Given the description of an element on the screen output the (x, y) to click on. 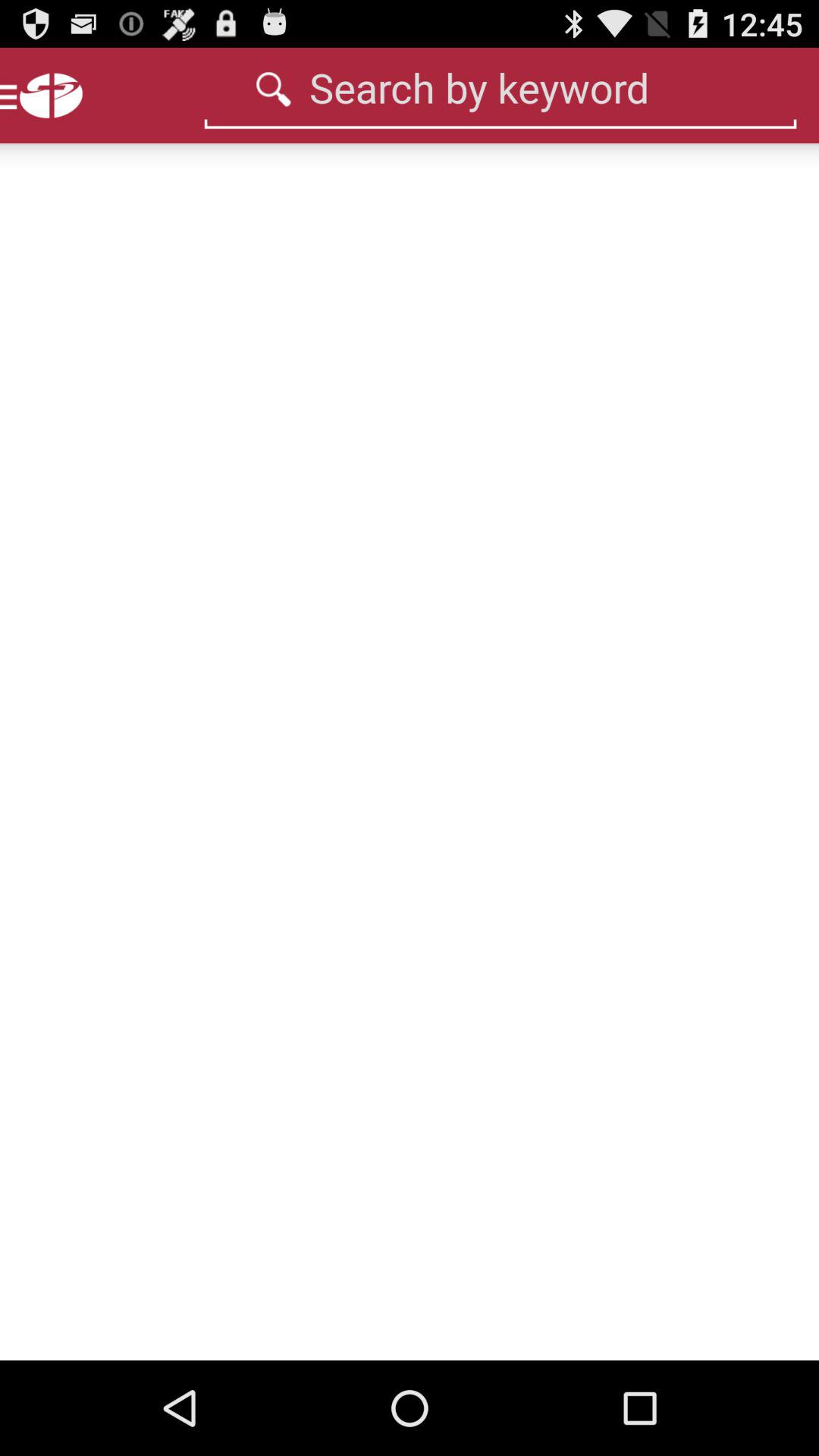
select item at the center (409, 751)
